Given the description of an element on the screen output the (x, y) to click on. 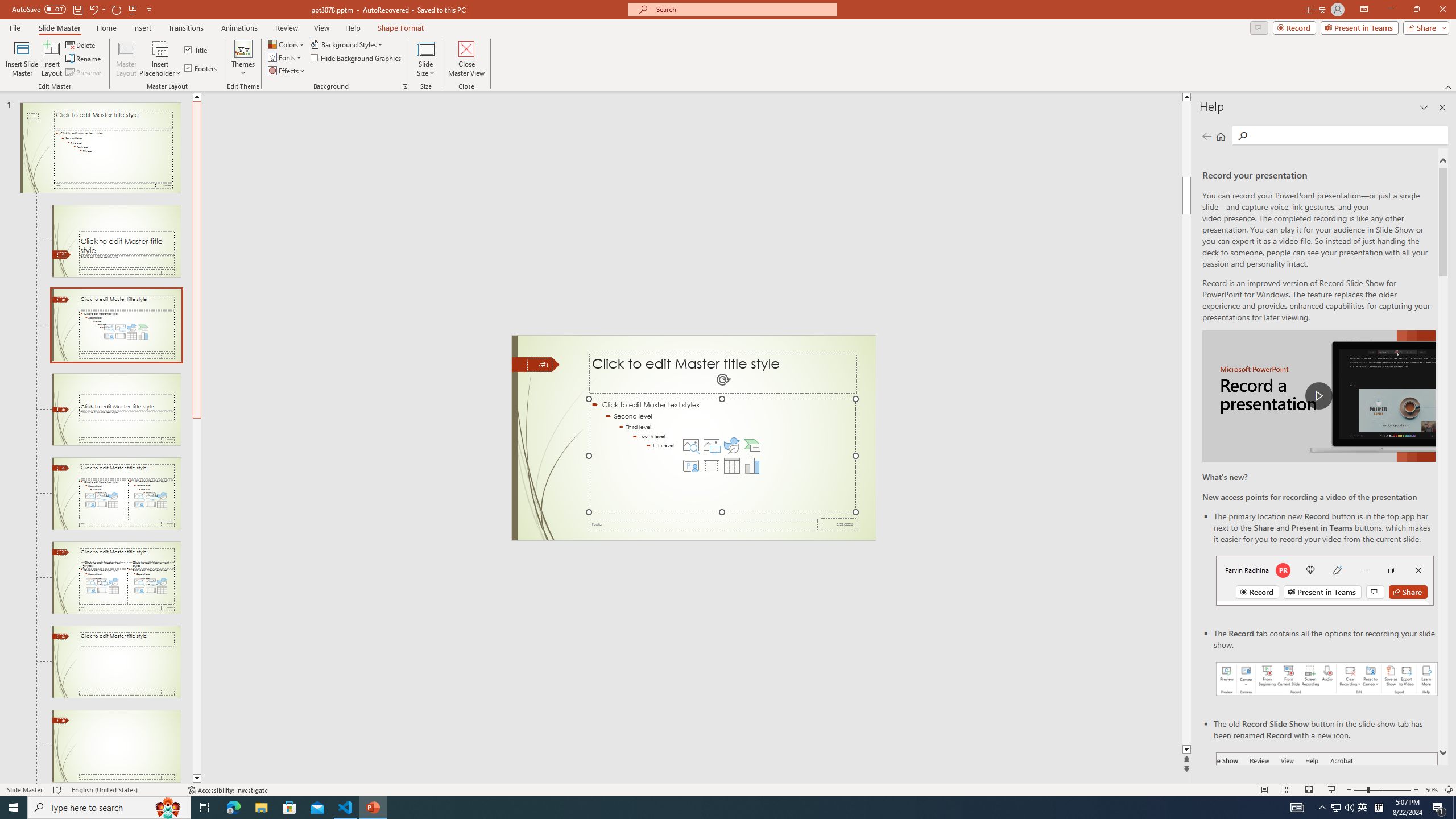
Slide Section Header Layout: used by no slides (116, 409)
Slide Wisp Slide Master: used by slide(s) 1 (100, 147)
Page up (1186, 138)
Insert Placeholder (160, 58)
Slide Title Slide Layout: used by slide(s) 1 (116, 240)
Effects (287, 69)
